Given the description of an element on the screen output the (x, y) to click on. 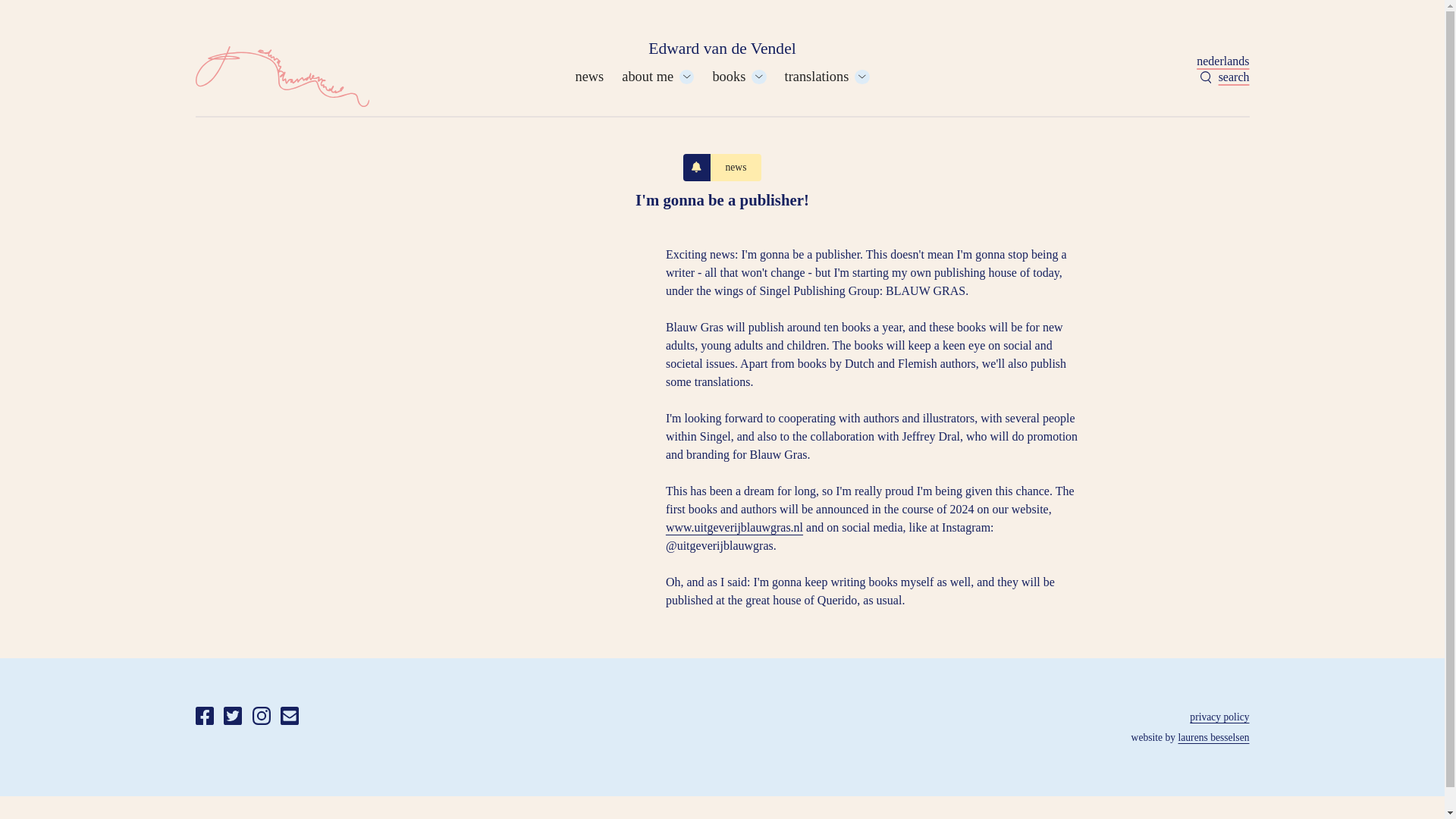
Edward van de Vendel (722, 48)
Twitter (232, 718)
privacy policy (1219, 716)
Go to English version of this site (1222, 60)
Privacybeleid (1219, 716)
Ga naar de zoekpagina (1224, 76)
nederlands (1222, 60)
news (589, 76)
Facebook (204, 718)
laurens besselsen (1213, 737)
